Given the description of an element on the screen output the (x, y) to click on. 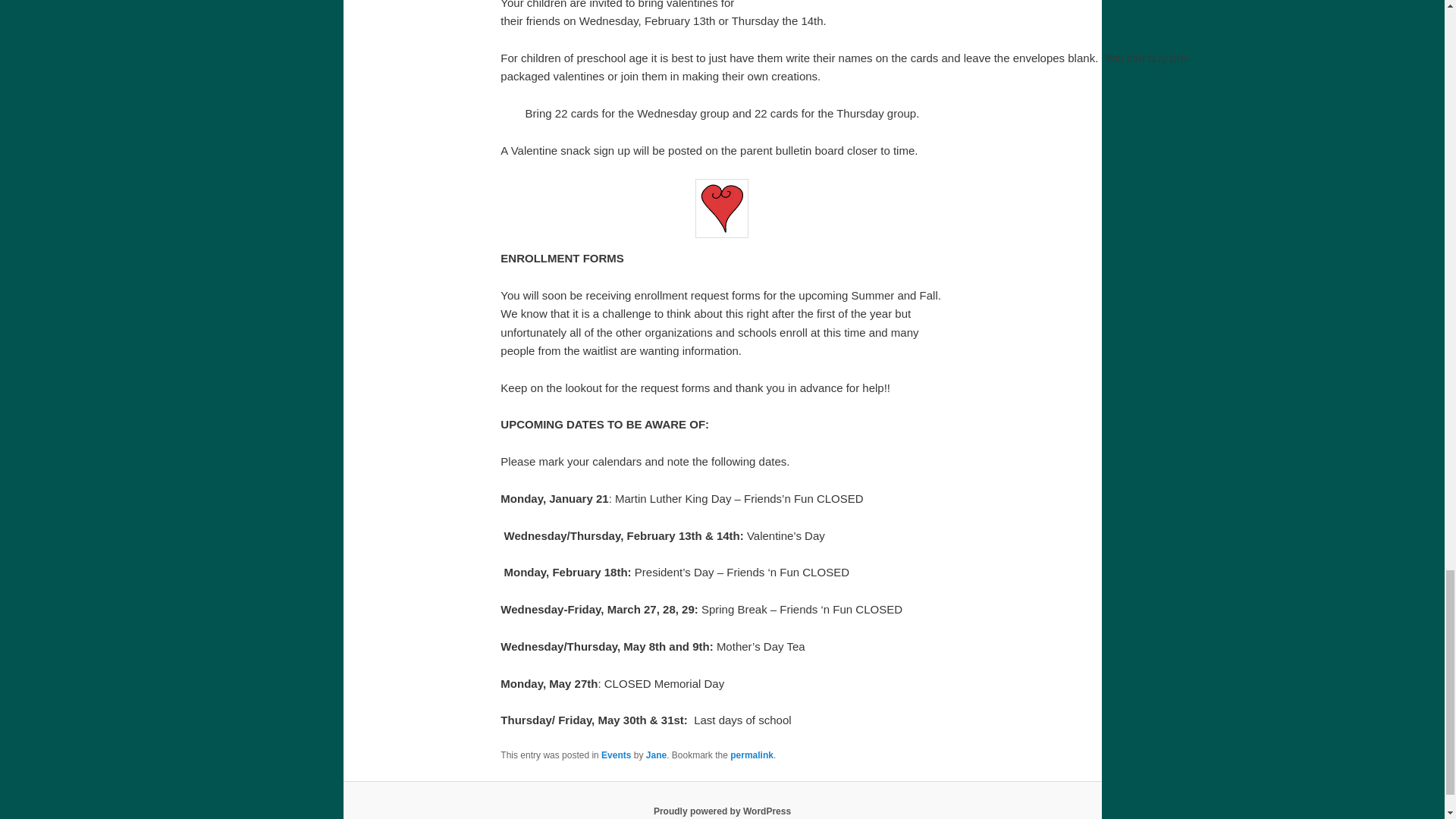
permalink (751, 755)
Events (615, 755)
Jane (656, 755)
Permalink to January 2019 Newsletter (751, 755)
Proudly powered by WordPress (721, 810)
Semantic Personal Publishing Platform (721, 810)
